Given the description of an element on the screen output the (x, y) to click on. 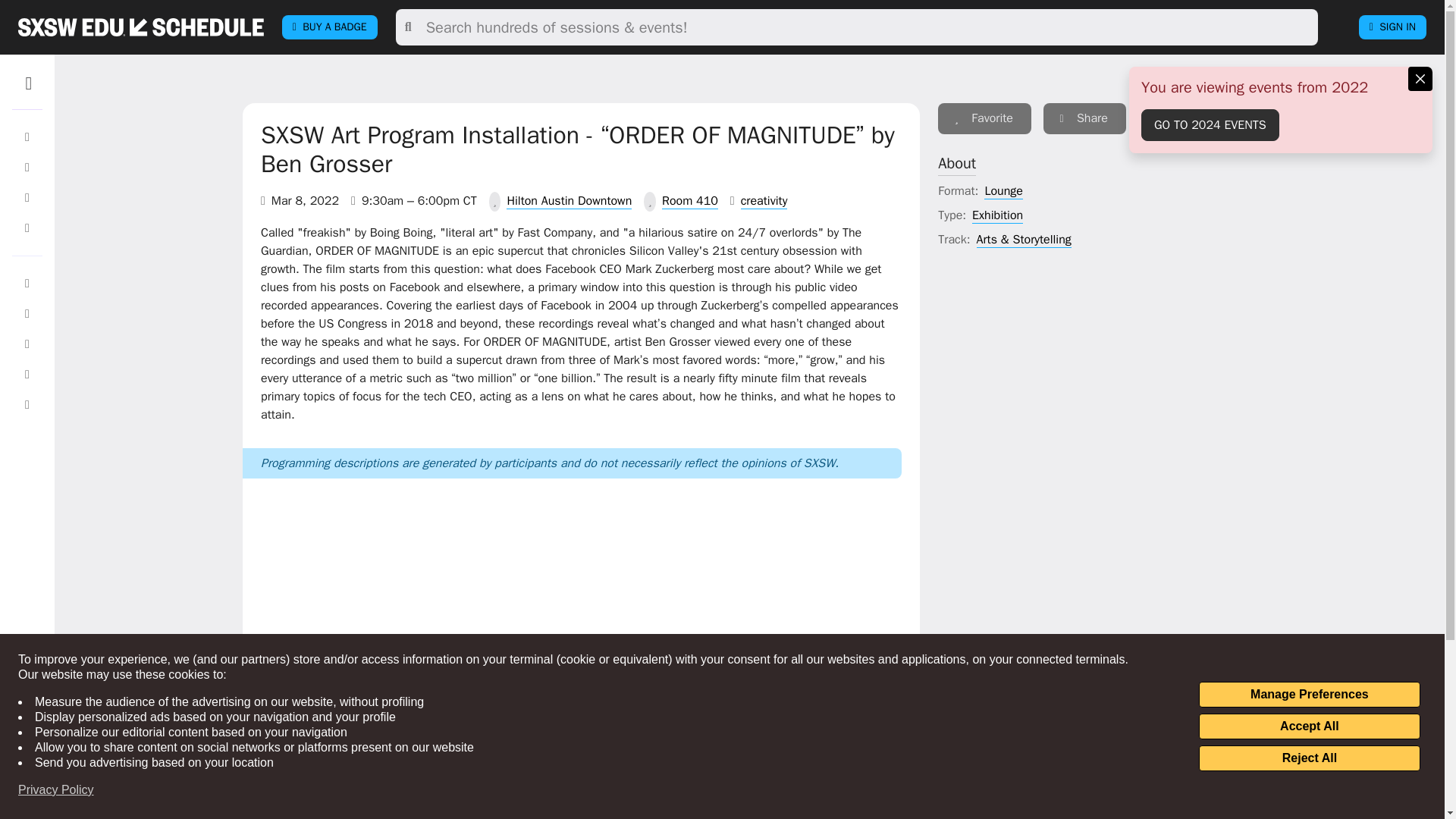
Accept All (1309, 726)
Hilton Austin Downtown (568, 201)
SIGN IN (1392, 27)
creativity (764, 201)
GO TO 2024 EVENTS (1210, 124)
Reject All (1309, 758)
edu SCHEDULE (140, 27)
Room 410 (689, 201)
BUY A BADGE (329, 27)
Manage Preferences (1309, 694)
Sign In to add to your favorites. (983, 118)
Privacy Policy (55, 789)
